Given the description of an element on the screen output the (x, y) to click on. 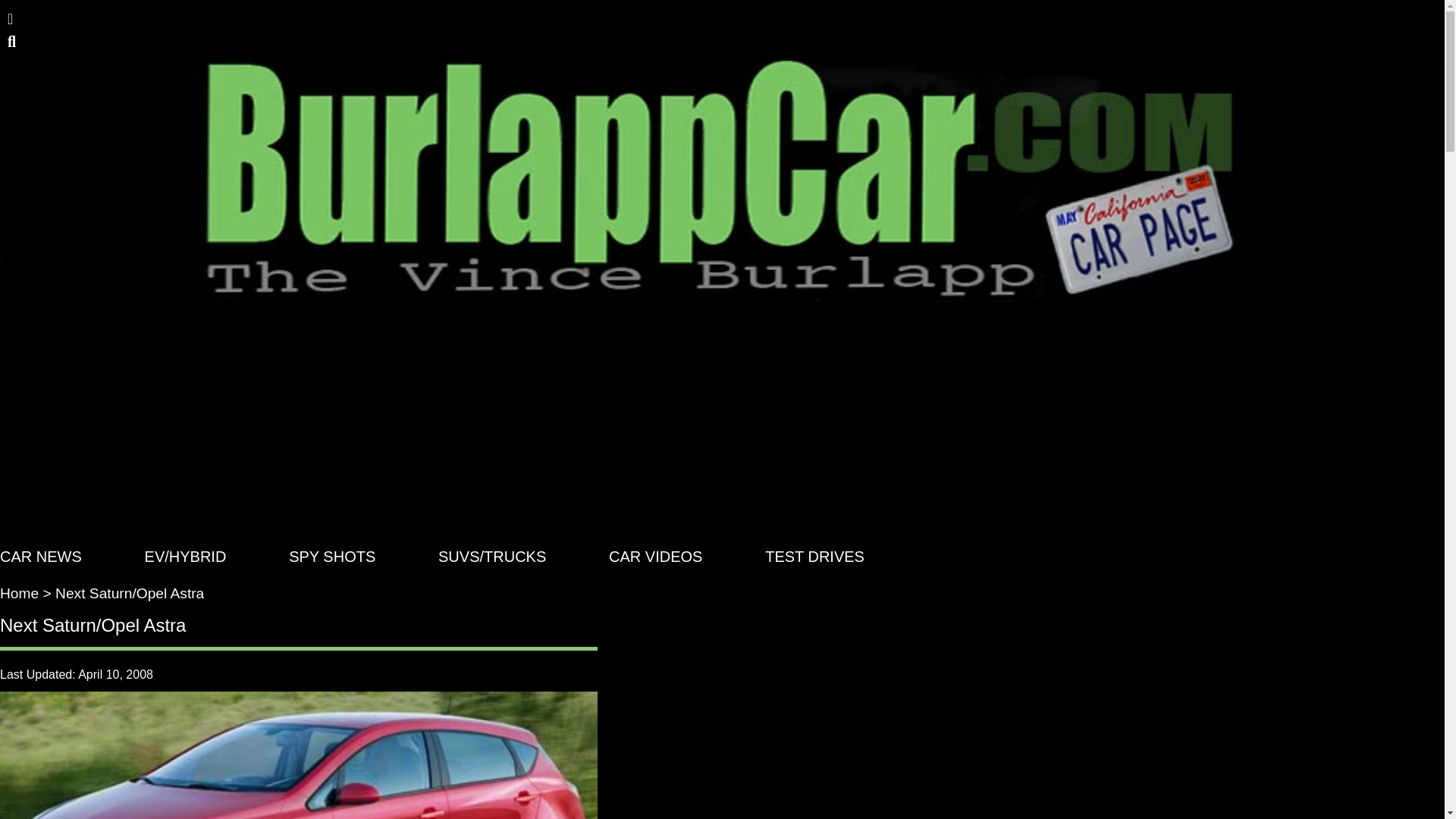
SPY SHOTS (331, 556)
Home (19, 593)
CAR VIDEOS (654, 556)
CAR NEWS (40, 556)
TEST DRIVES (814, 556)
